Given the description of an element on the screen output the (x, y) to click on. 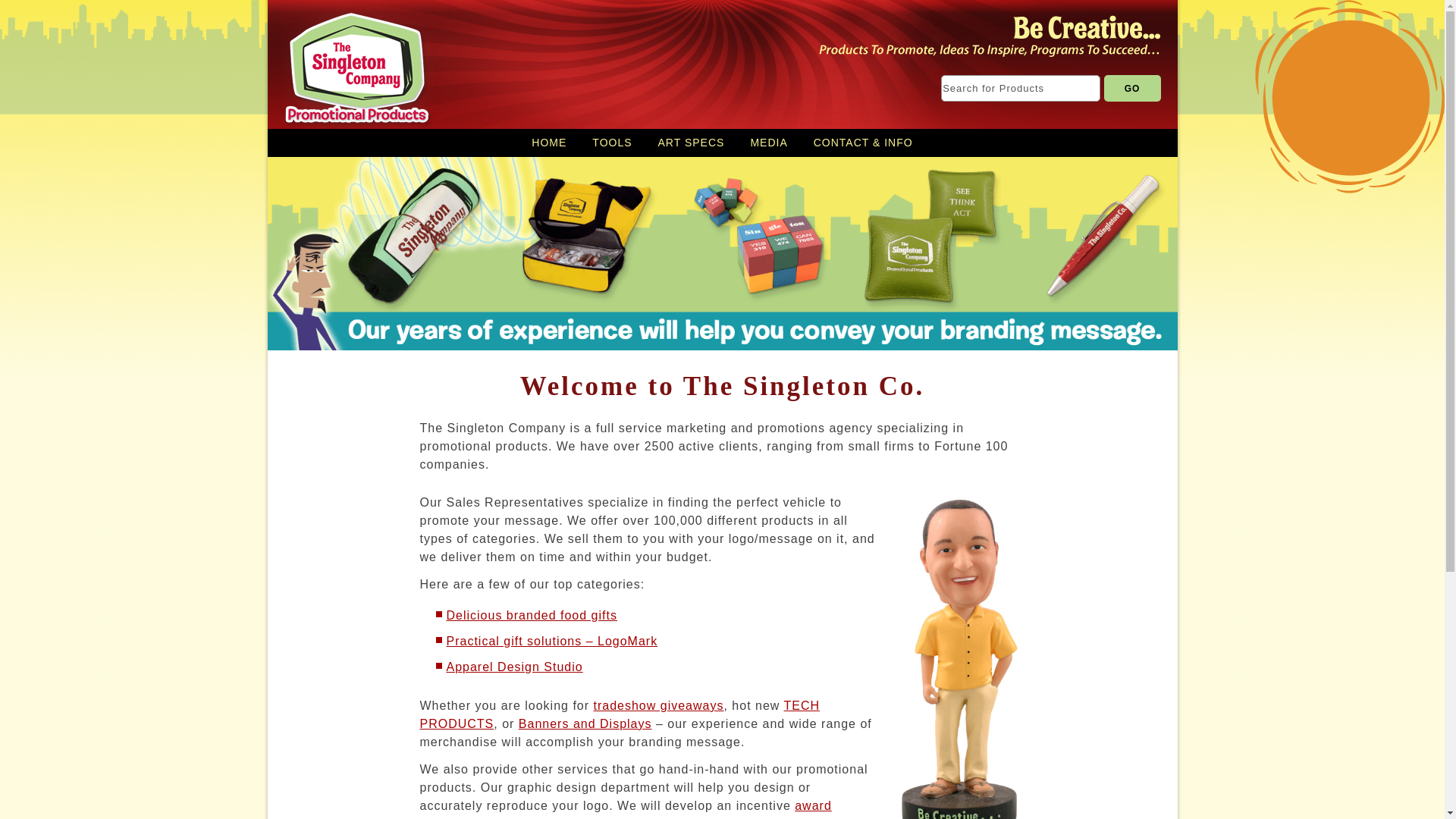
Apparel Design Studio (513, 666)
tradeshow giveaways (657, 705)
MEDIA (767, 142)
GO (1131, 88)
GO (1131, 88)
Banners and Displays (585, 723)
Search for Products (1020, 88)
Be Creative! Todd Singleton (959, 655)
HOME (548, 142)
TECH PRODUCTS (620, 714)
award program (625, 809)
ART SPECS (691, 142)
TOOLS (612, 142)
Delicious branded food gifts (530, 615)
